Given the description of an element on the screen output the (x, y) to click on. 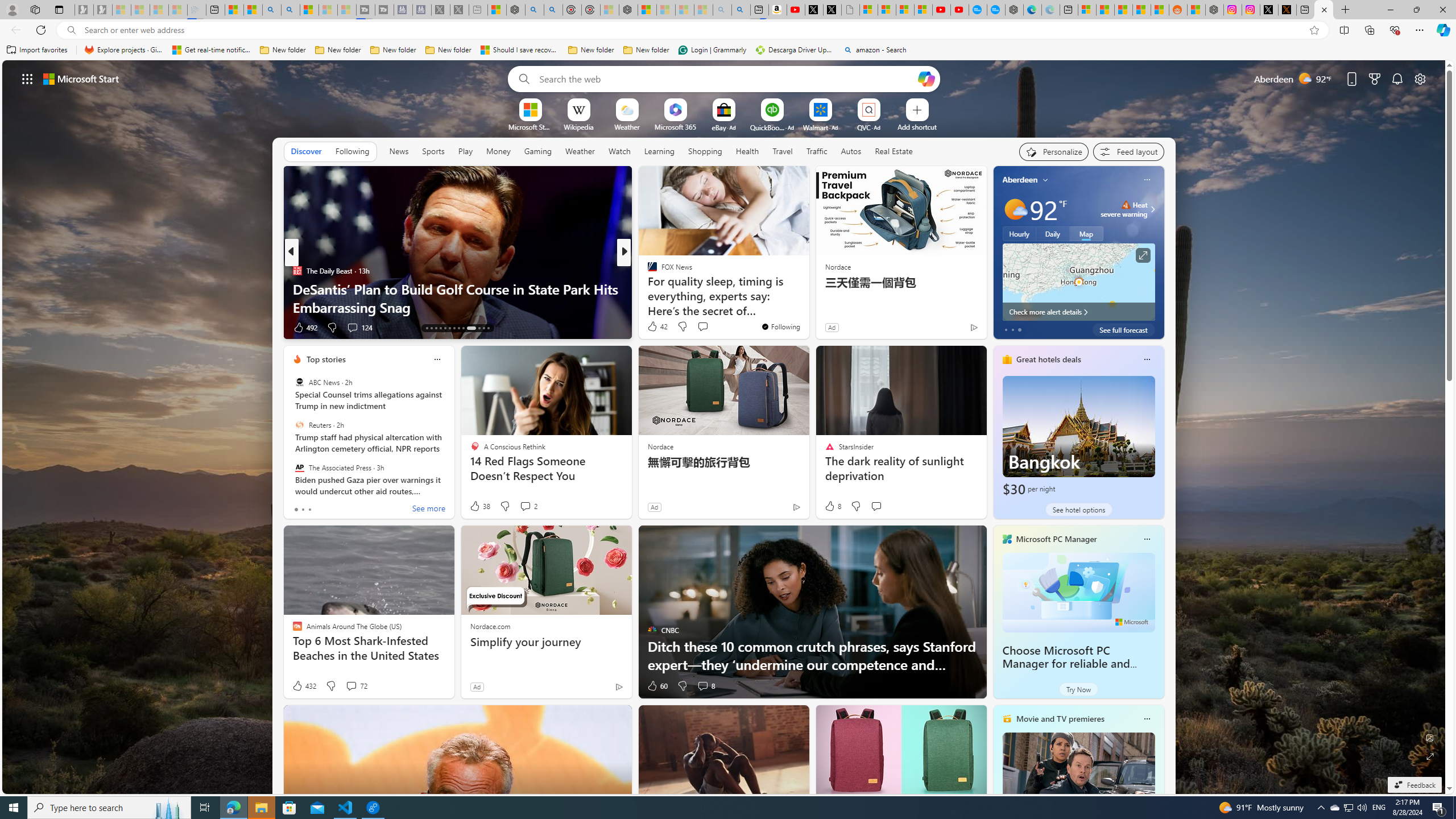
38 Like (479, 505)
Feed settings (1128, 151)
Great hotels deals (1048, 359)
42 Like (657, 326)
The Wall Street Journal (647, 288)
The most popular Google 'how to' searches (996, 9)
Nordace - Nordace Siena Is Not An Ordinary Backpack (628, 9)
Microsoft Start - Sleeping (328, 9)
Streaming Coverage | T3 - Sleeping (365, 9)
Enter your search term (726, 78)
AutomationID: tab-20 (458, 328)
